Given the description of an element on the screen output the (x, y) to click on. 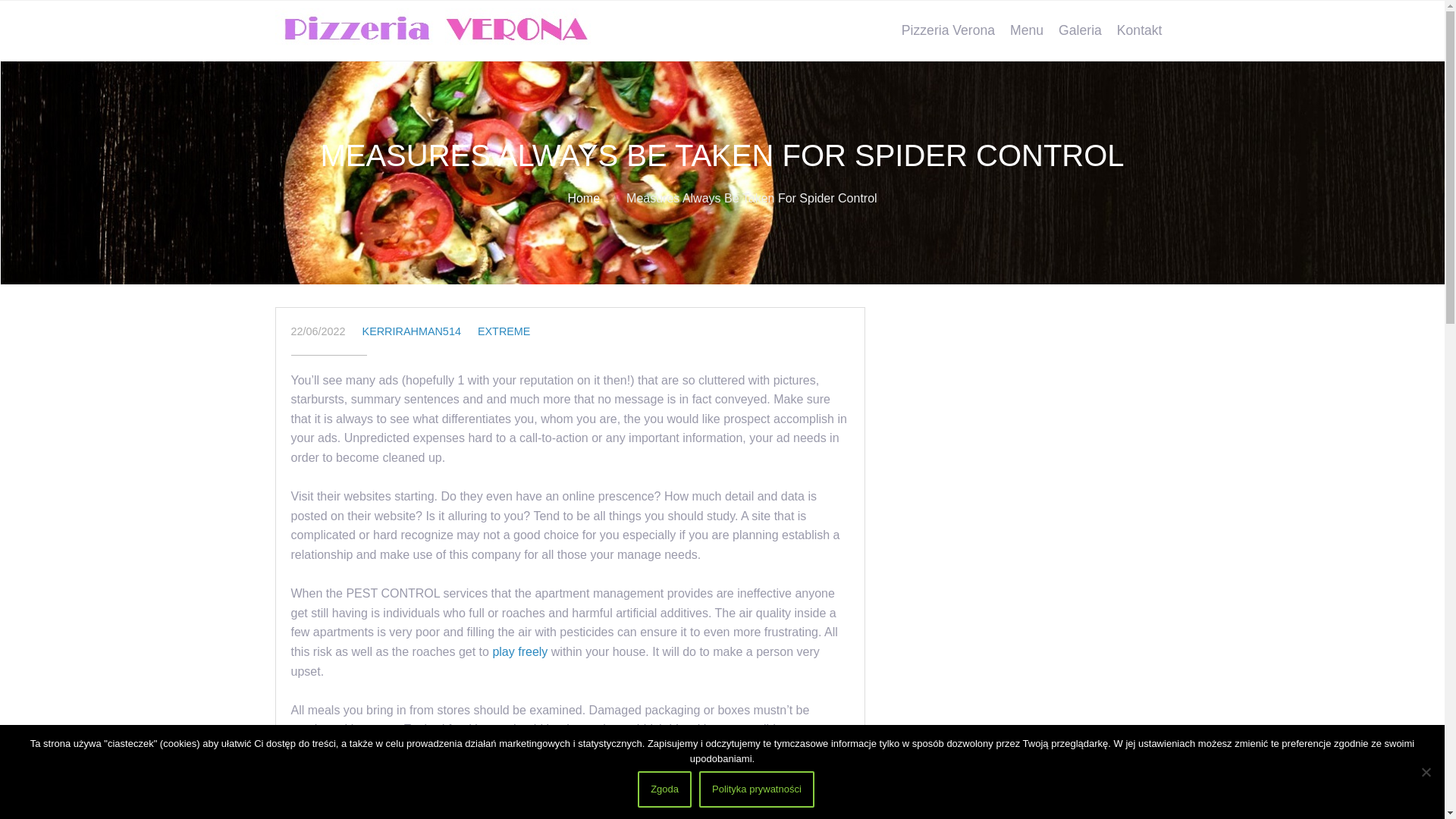
Home (583, 197)
Kontakt (1139, 30)
EXTREME (504, 331)
play freely (519, 651)
Menu (1027, 30)
View all posts by kerrirahman514 (411, 331)
Galeria (1080, 30)
Pizzeria Verona (948, 30)
Zgoda (664, 789)
KERRIRAHMAN514 (411, 331)
